Given the description of an element on the screen output the (x, y) to click on. 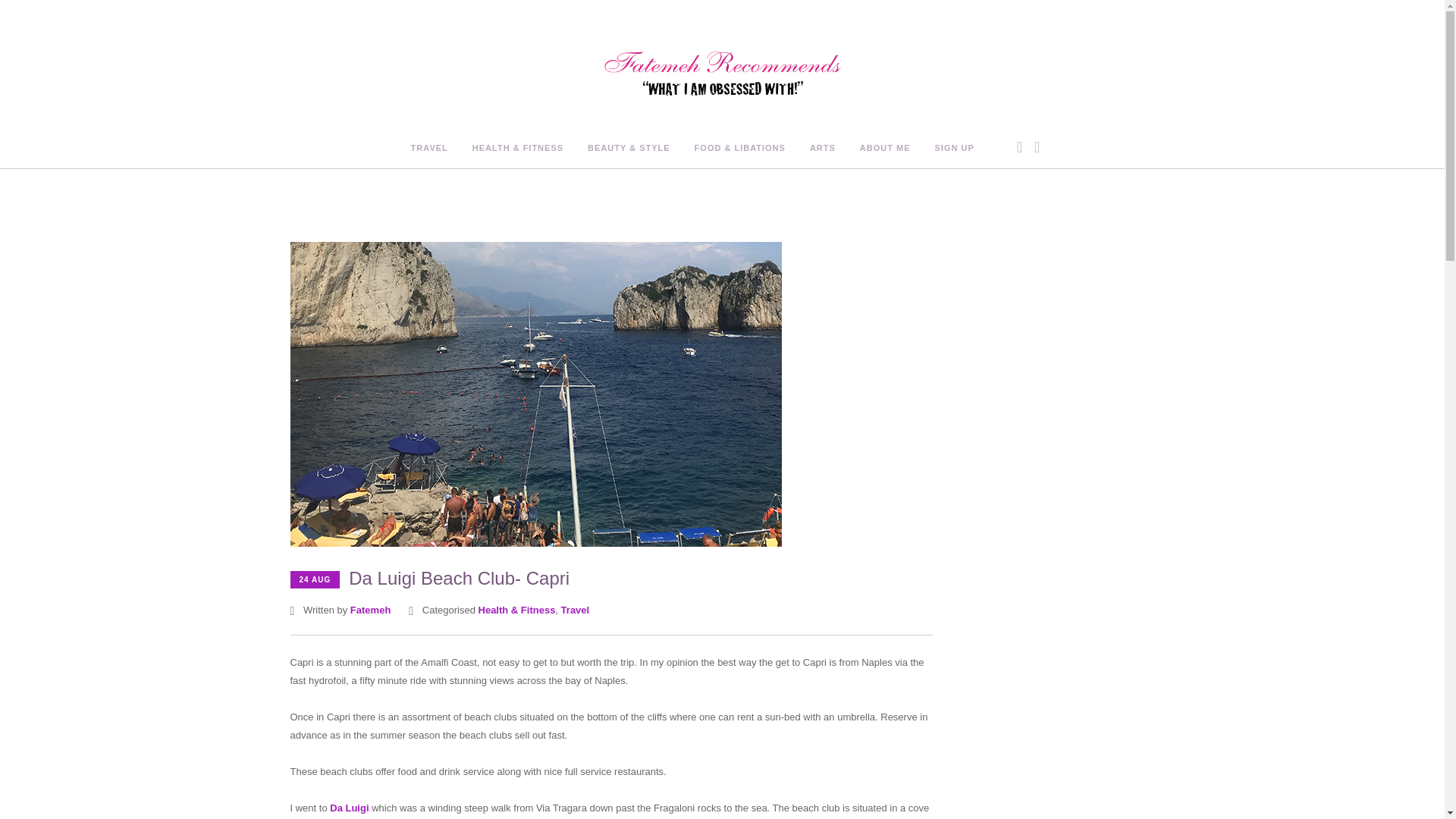
TRAVEL (429, 148)
24 AUGDa Luigi Beach Club- Capri (429, 579)
Travel (574, 609)
Fatemeh (370, 609)
Da Luigi (349, 808)
ABOUT ME (885, 148)
Posts by Fatemeh (370, 609)
SIGN UP (954, 148)
